Given the description of an element on the screen output the (x, y) to click on. 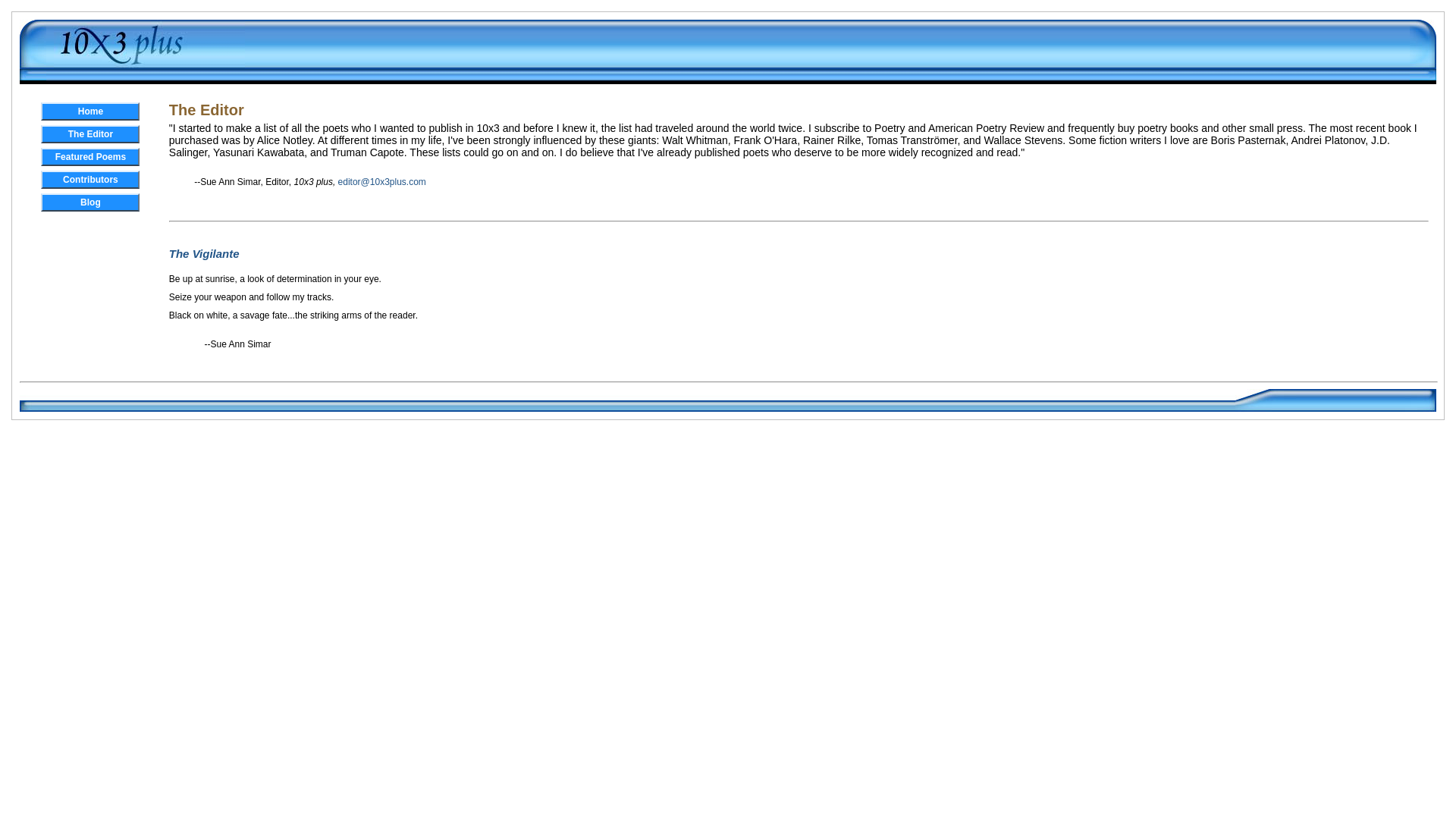
Featured Poems Element type: text (89, 156)
editor@10x3plus.com Element type: text (382, 181)
The Editor Element type: text (89, 134)
Home Element type: text (89, 111)
Blog Element type: text (89, 202)
Contributors Element type: text (89, 179)
